Given the description of an element on the screen output the (x, y) to click on. 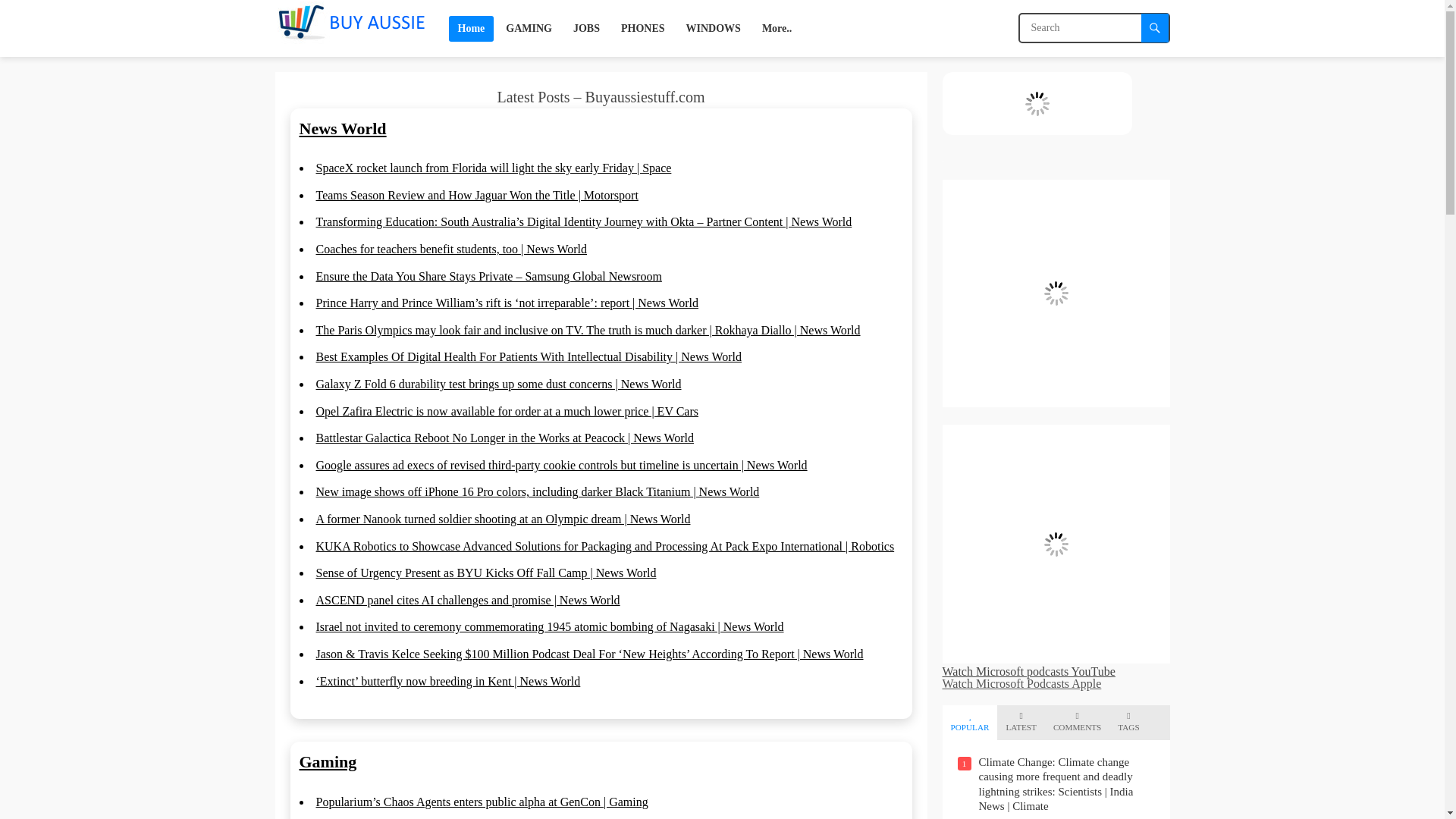
GAMING (528, 28)
WINDOWS (713, 28)
PHONES (642, 28)
Apple Music Latest (1036, 103)
